Given the description of an element on the screen output the (x, y) to click on. 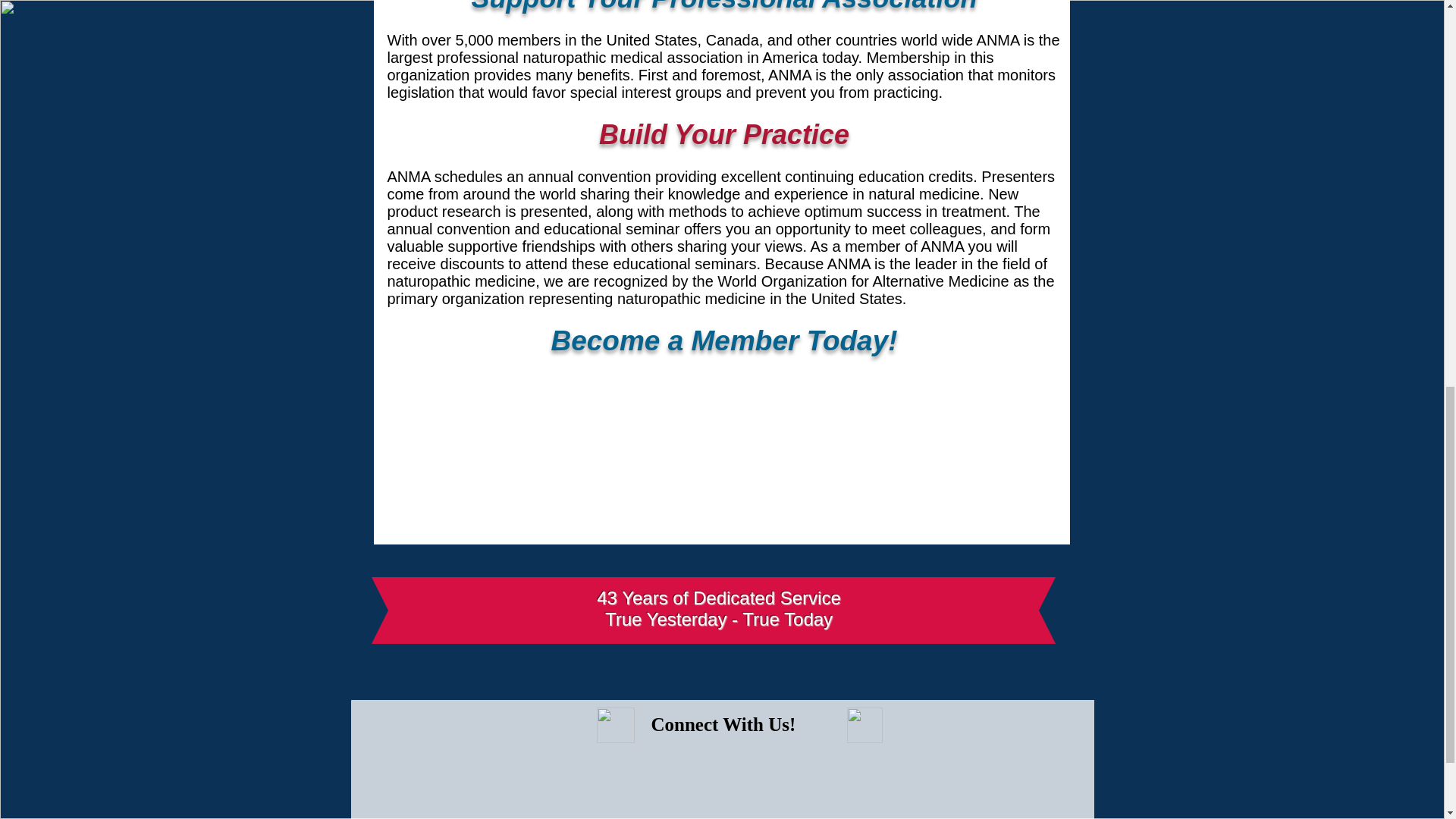
annual convention (588, 176)
